Given the description of an element on the screen output the (x, y) to click on. 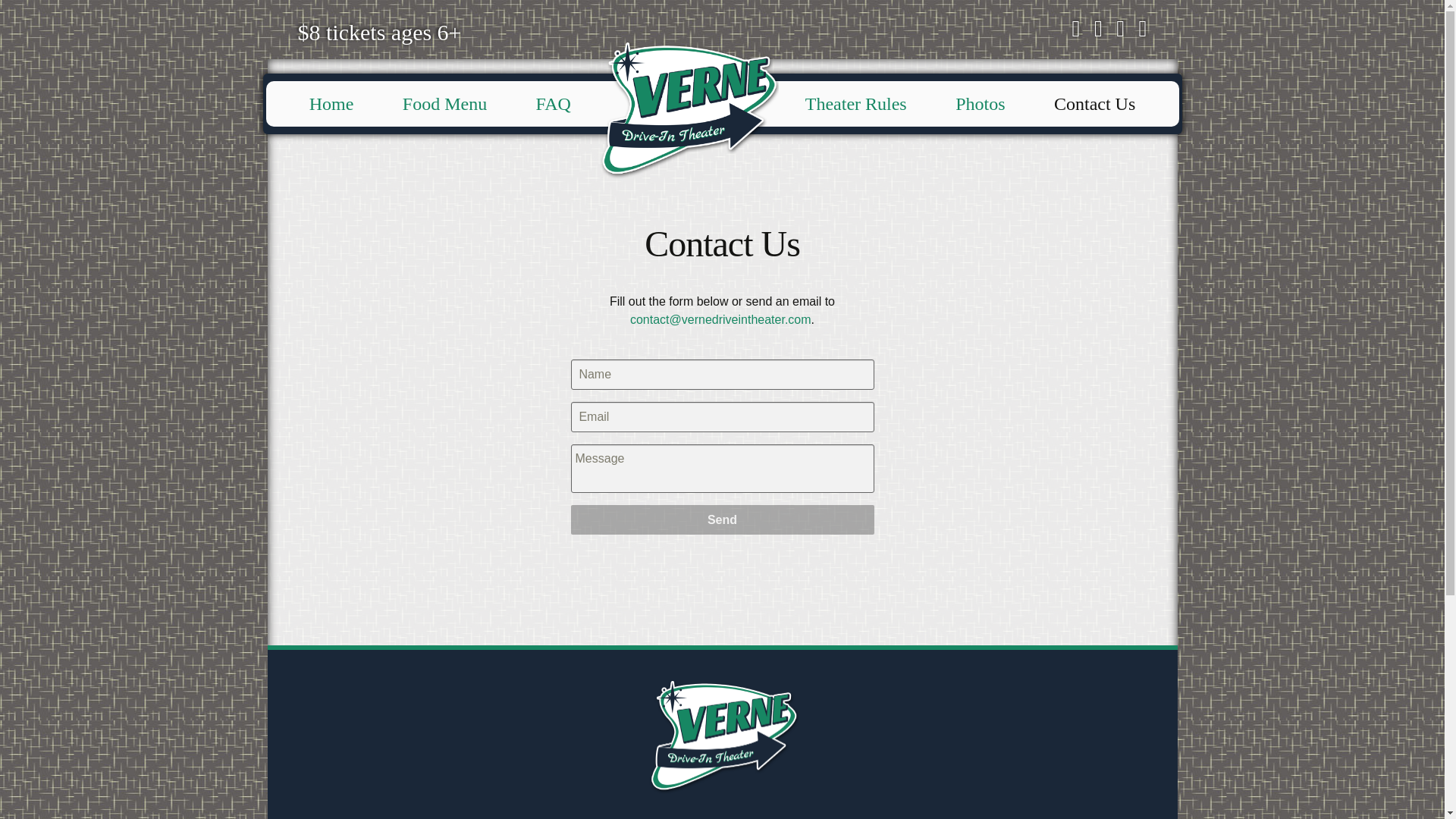
FAQ (553, 103)
Food Menu (444, 103)
Theater Rules (856, 103)
Send (721, 519)
Contact Us (1093, 103)
Verne Drive-In (687, 63)
Photos (980, 103)
Home (331, 103)
Send (721, 519)
